Given the description of an element on the screen output the (x, y) to click on. 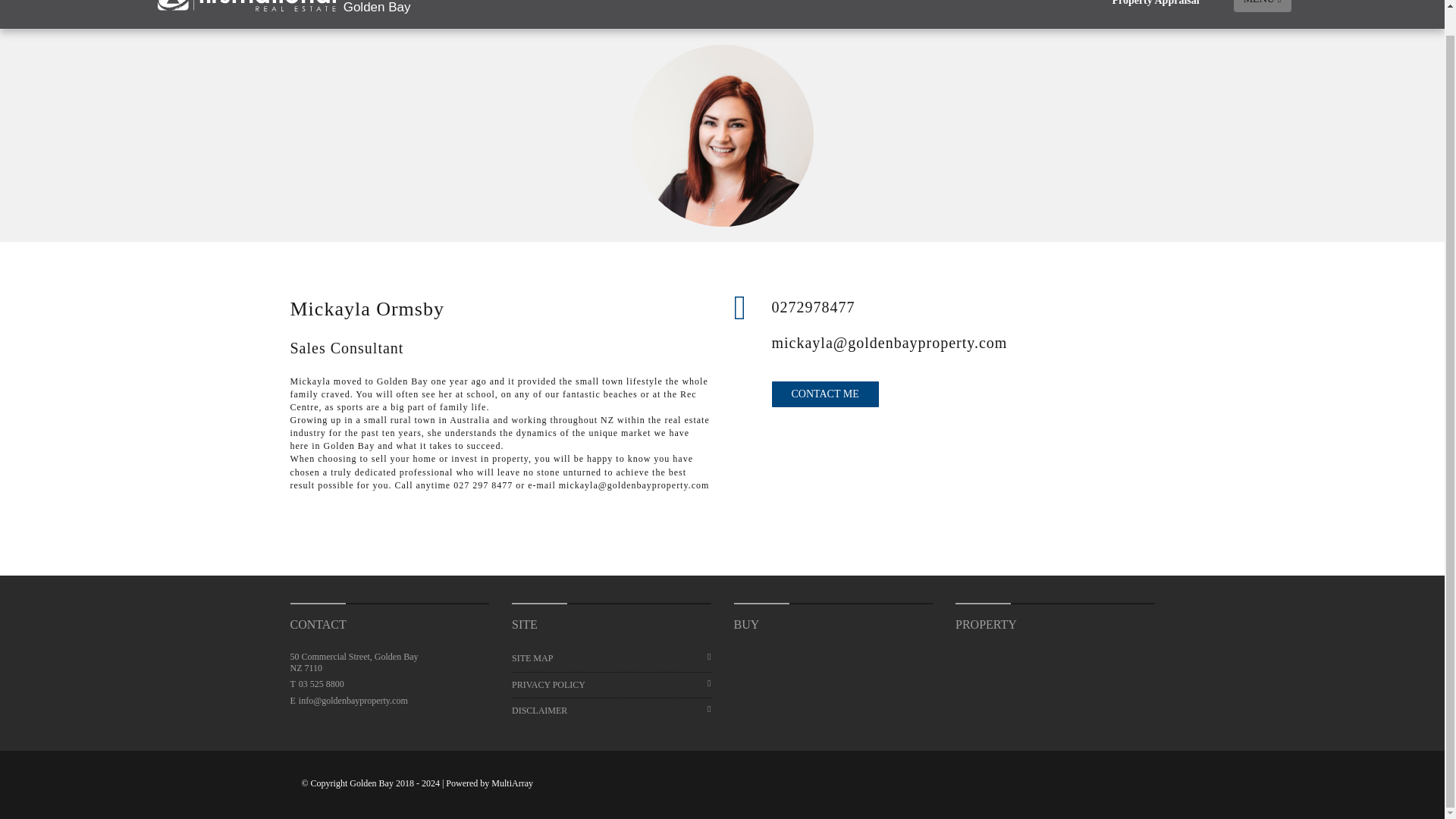
Mickayla Ormsby (721, 135)
SITE MAP (611, 658)
03 525 8800 (320, 683)
DISCLAIMER (611, 710)
CONTACT ME (825, 394)
0272978477 (962, 306)
PRIVACY POLICY (611, 684)
Property Appraisal (1155, 14)
